Given the description of an element on the screen output the (x, y) to click on. 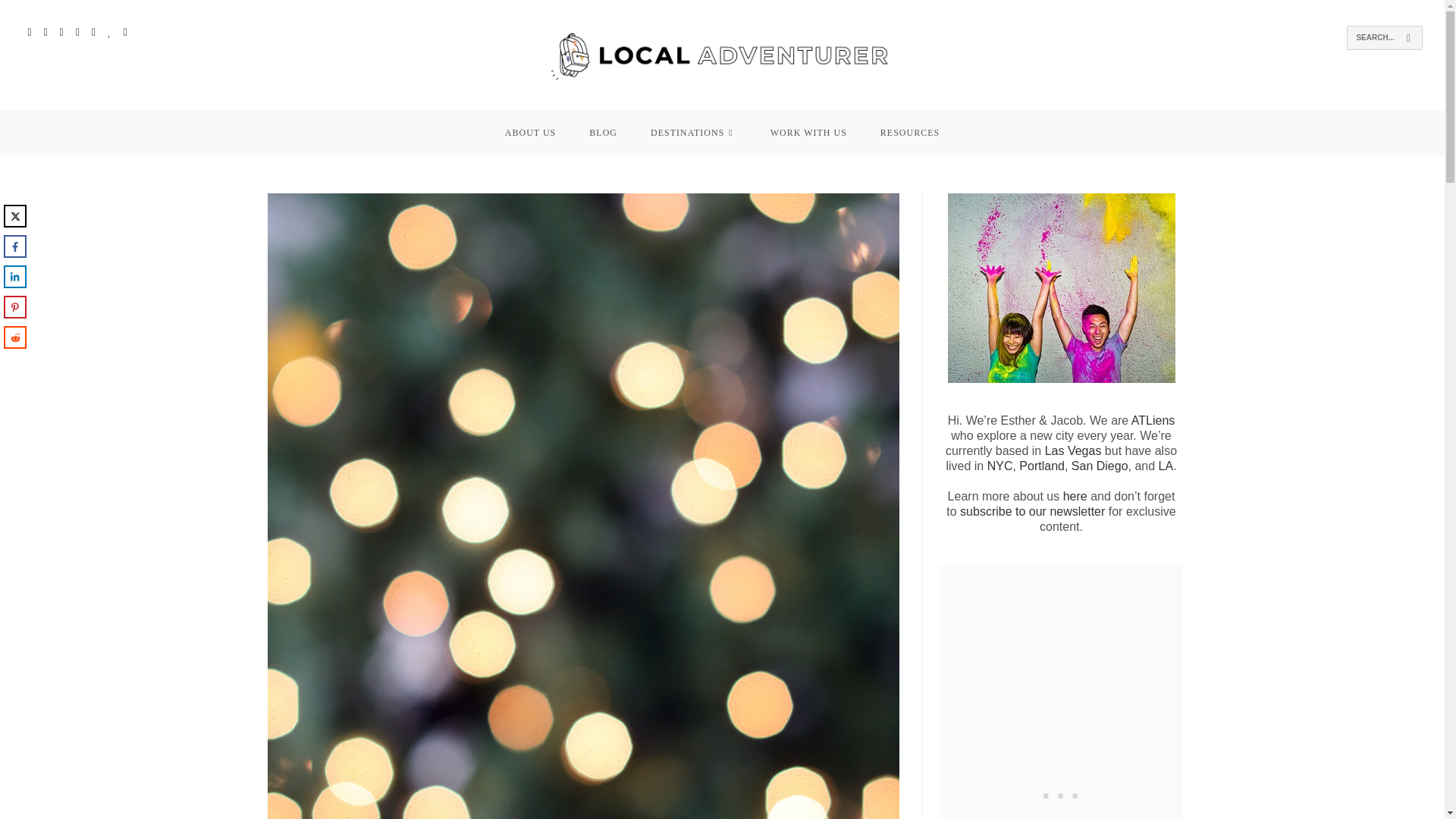
DESTINATIONS (693, 132)
ABOUT US (529, 132)
RESOURCES (909, 132)
BLOG (602, 132)
WORK WITH US (808, 132)
